Given the description of an element on the screen output the (x, y) to click on. 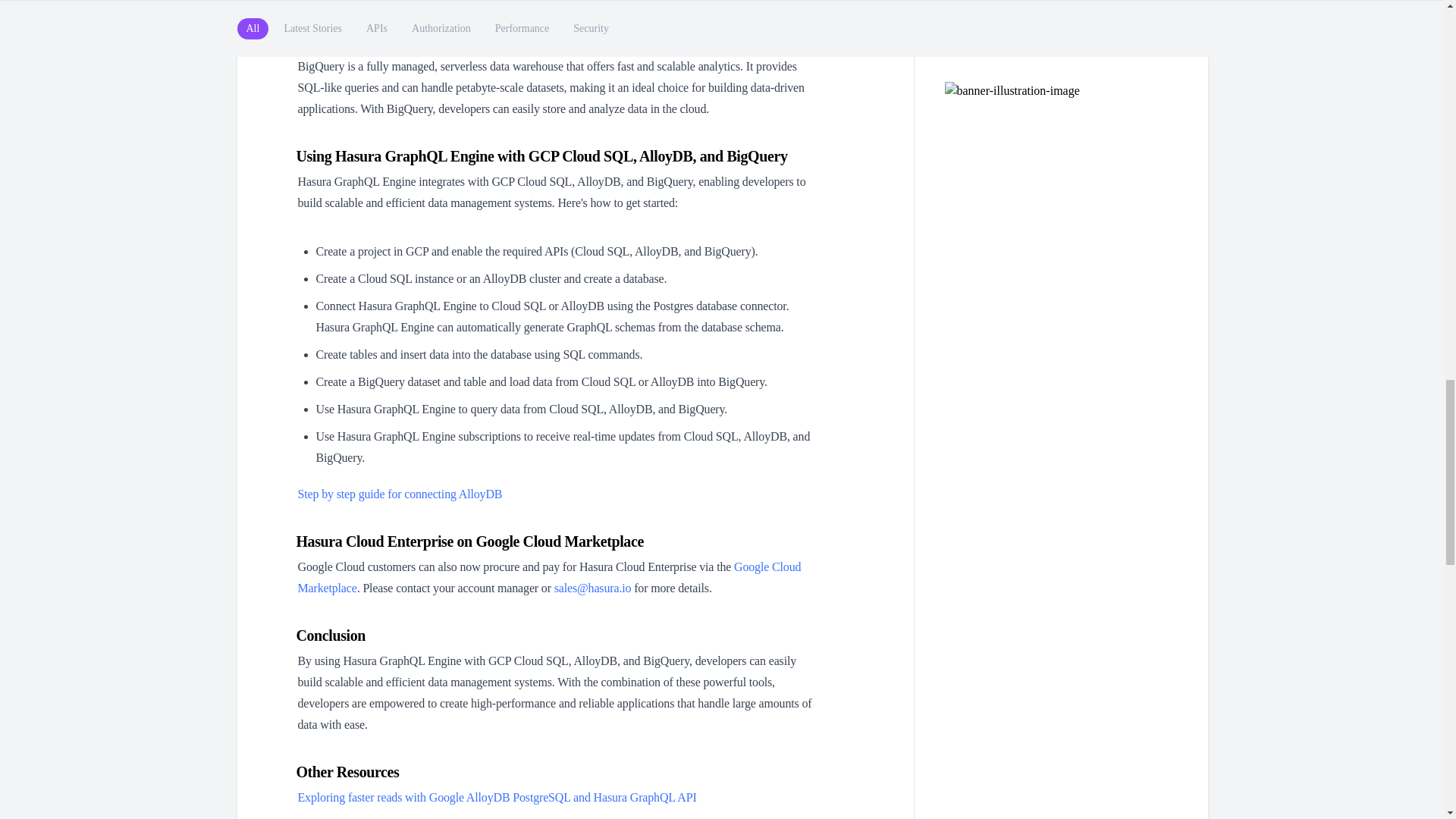
Google Cloud Marketplace (548, 577)
Step by step guide for connecting AlloyDB (399, 493)
